Given the description of an element on the screen output the (x, y) to click on. 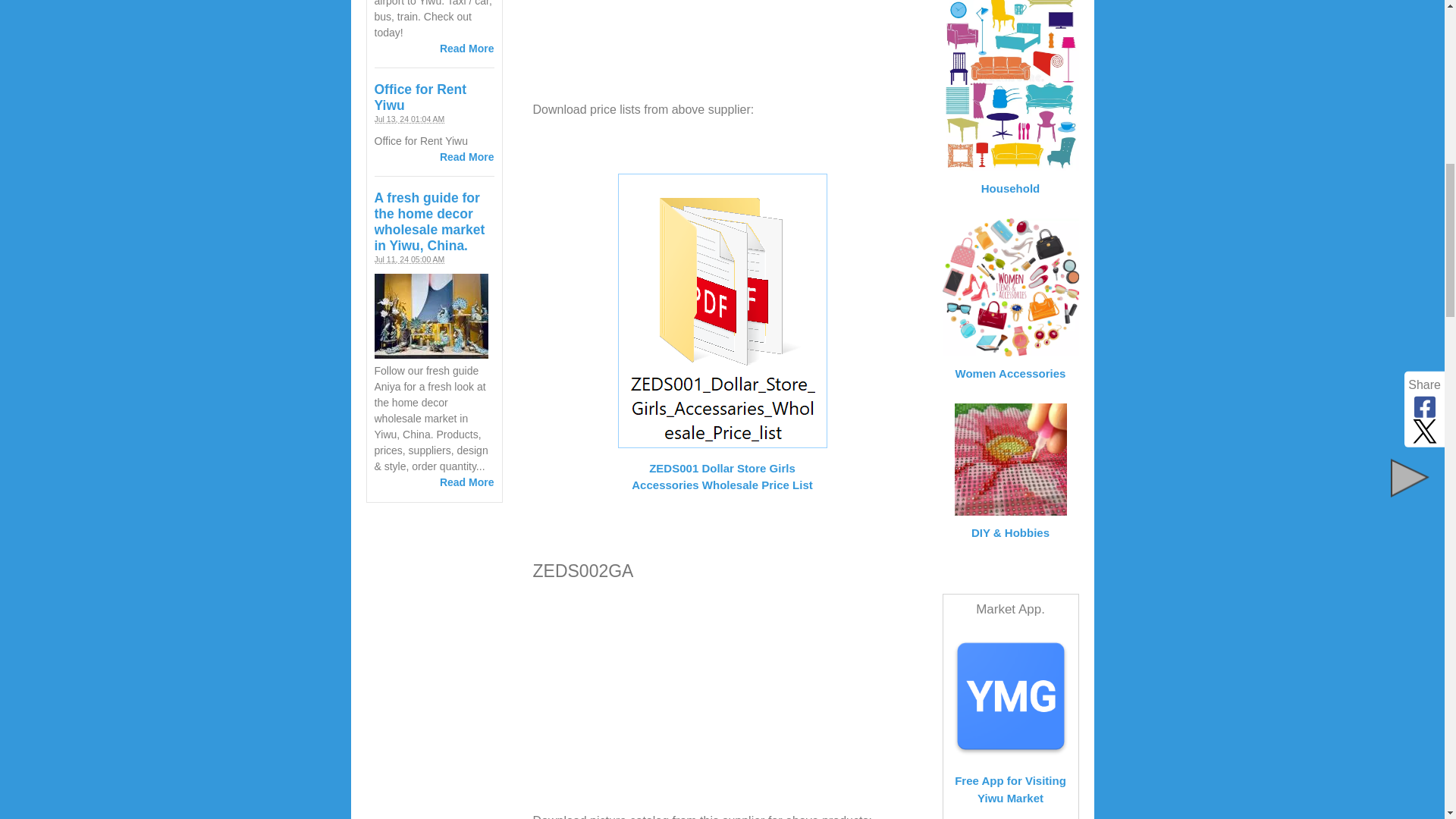
Household Items Wholesale Price Lists (1010, 85)
Read More (467, 48)
2024-07-13T01:04:07-0400 (409, 118)
Read More (467, 481)
ZEDS001 Dollar Store Girls Accessories Wholesale Price List (721, 466)
Go to Yiwu Market Guide APP (1010, 779)
Office for Rent Yiwu (420, 97)
Free App for Visiting Yiwu Market (1010, 695)
2024-07-11T05:00:52-0400 (409, 258)
Women fashion accessories wholesale catalog and price lists (1010, 287)
Read More (467, 156)
